Given the description of an element on the screen output the (x, y) to click on. 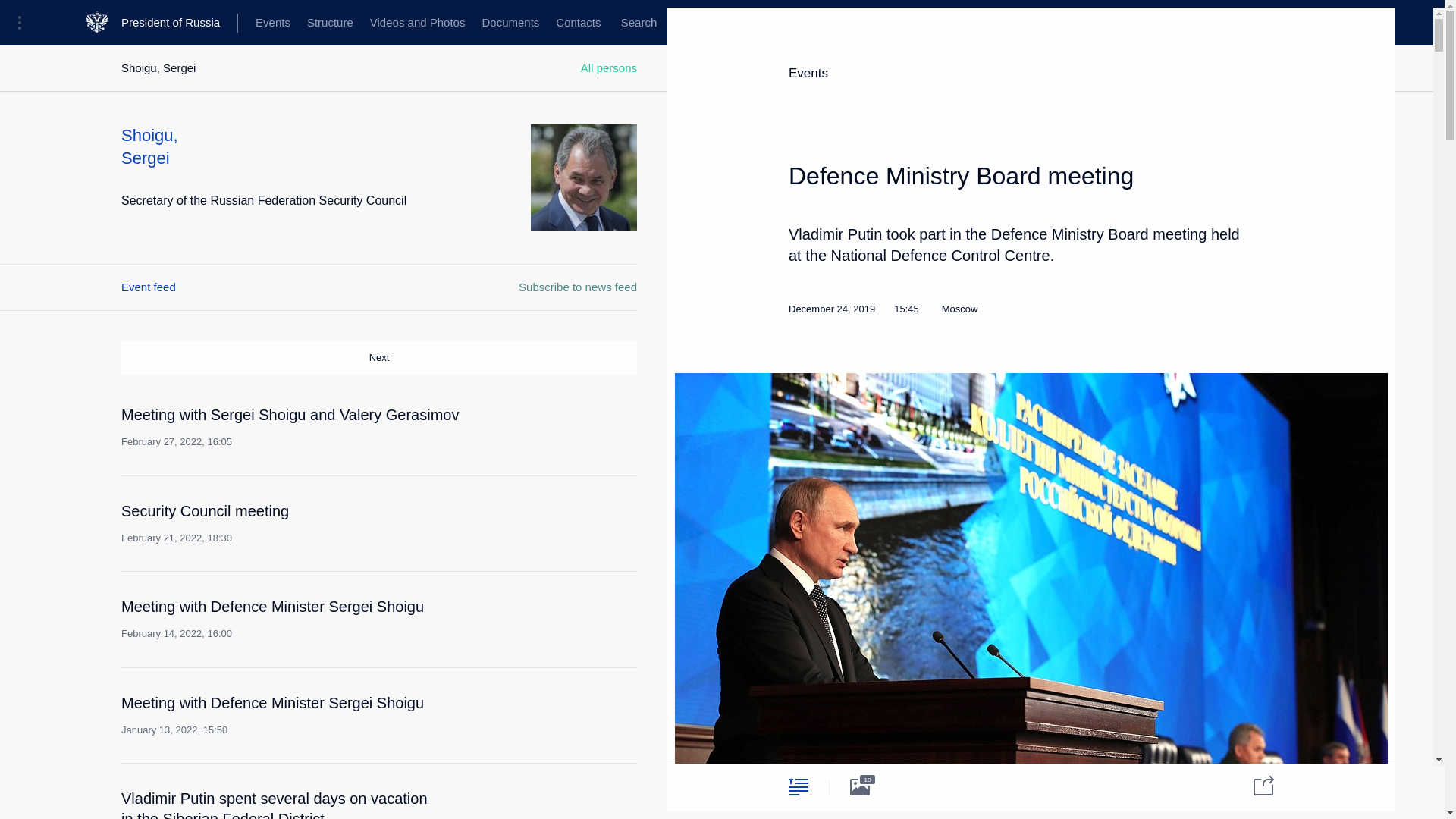
Next (321, 523)
Videos and Photos (378, 357)
Events (417, 22)
Text (272, 22)
Search (798, 786)
Documents (638, 22)
President of Russia (510, 22)
Share (179, 22)
All persons (1253, 784)
Global website search (608, 67)
Photo (638, 22)
